Given the description of an element on the screen output the (x, y) to click on. 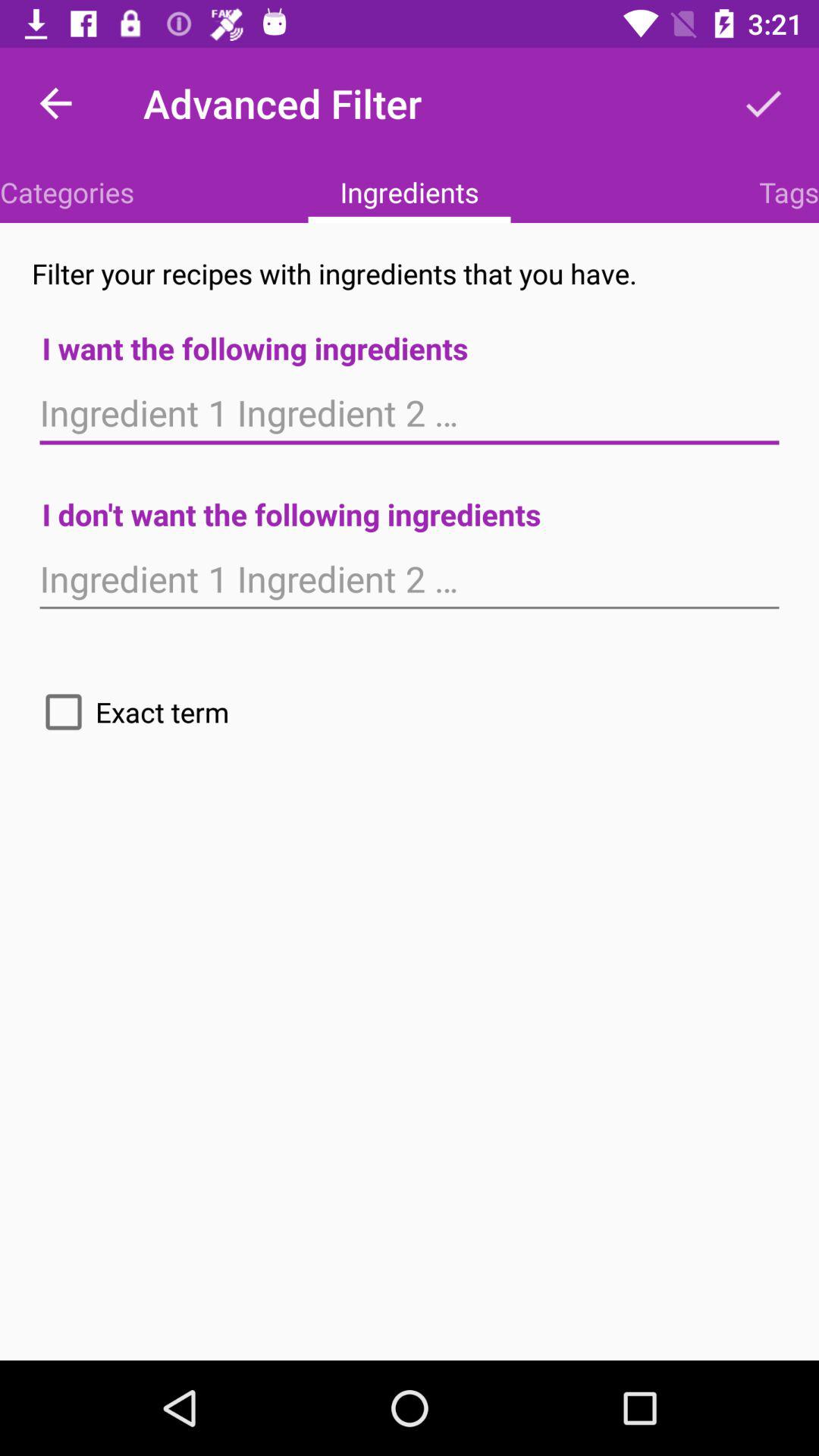
scroll until categories app (67, 192)
